Given the description of an element on the screen output the (x, y) to click on. 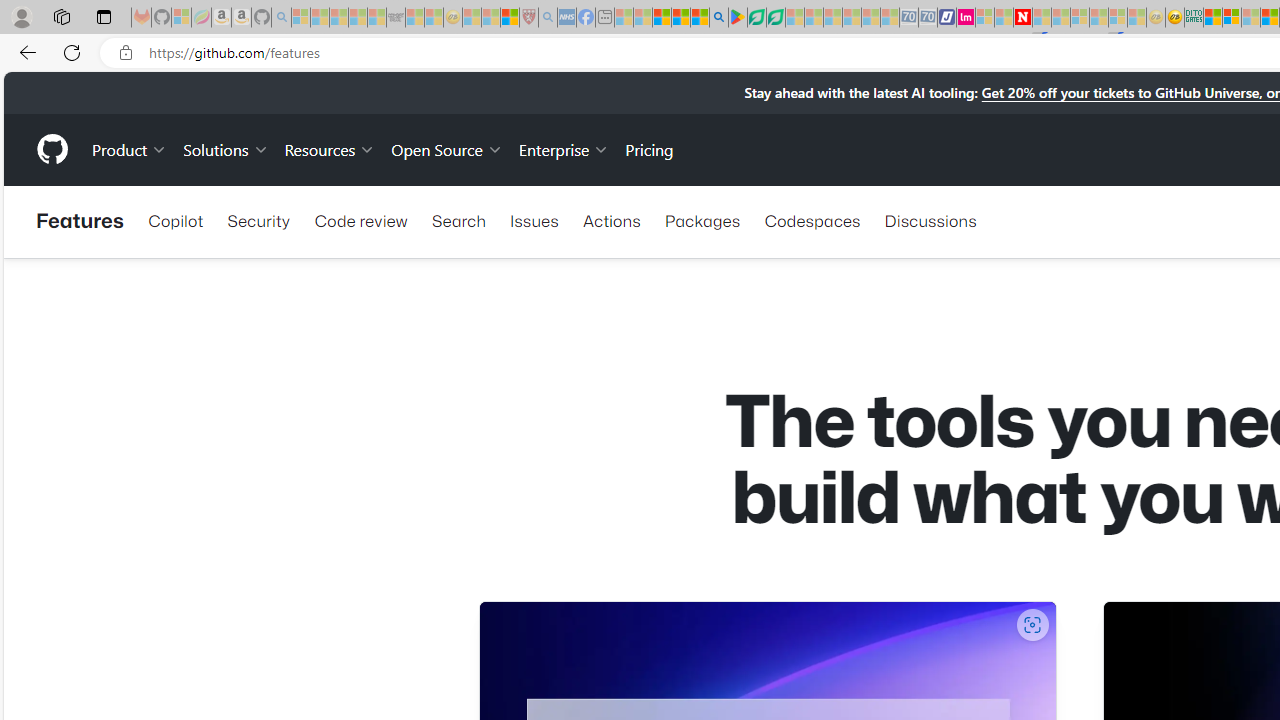
Enterprise (563, 148)
Open Source (446, 148)
Code review (360, 220)
Pets - MSN (680, 17)
Copilot (175, 220)
